Given the description of an element on the screen output the (x, y) to click on. 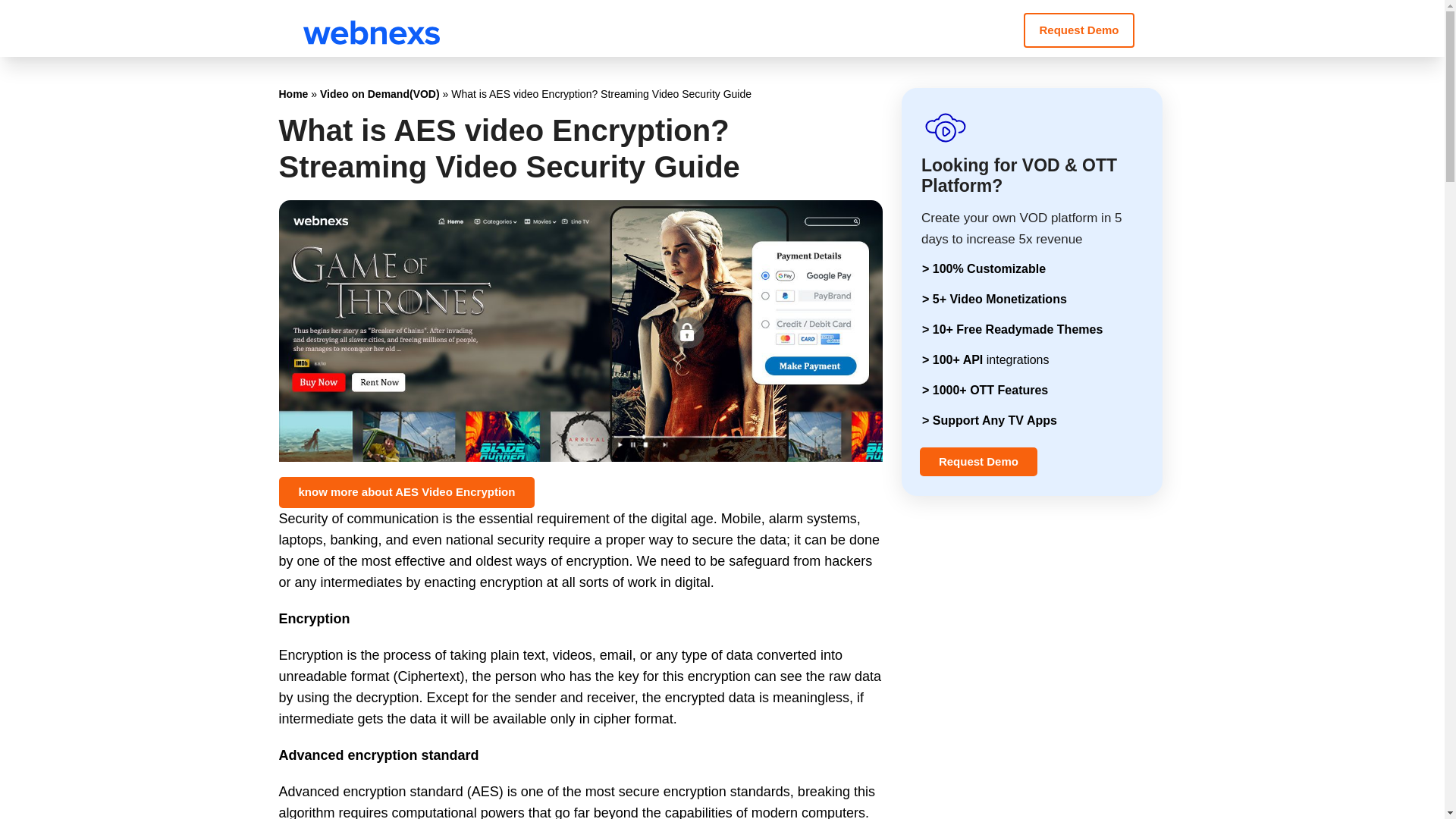
Request Demo (1078, 30)
Request Demo (978, 461)
know more about AES Video Encryption (407, 491)
Home (293, 93)
